Given the description of an element on the screen output the (x, y) to click on. 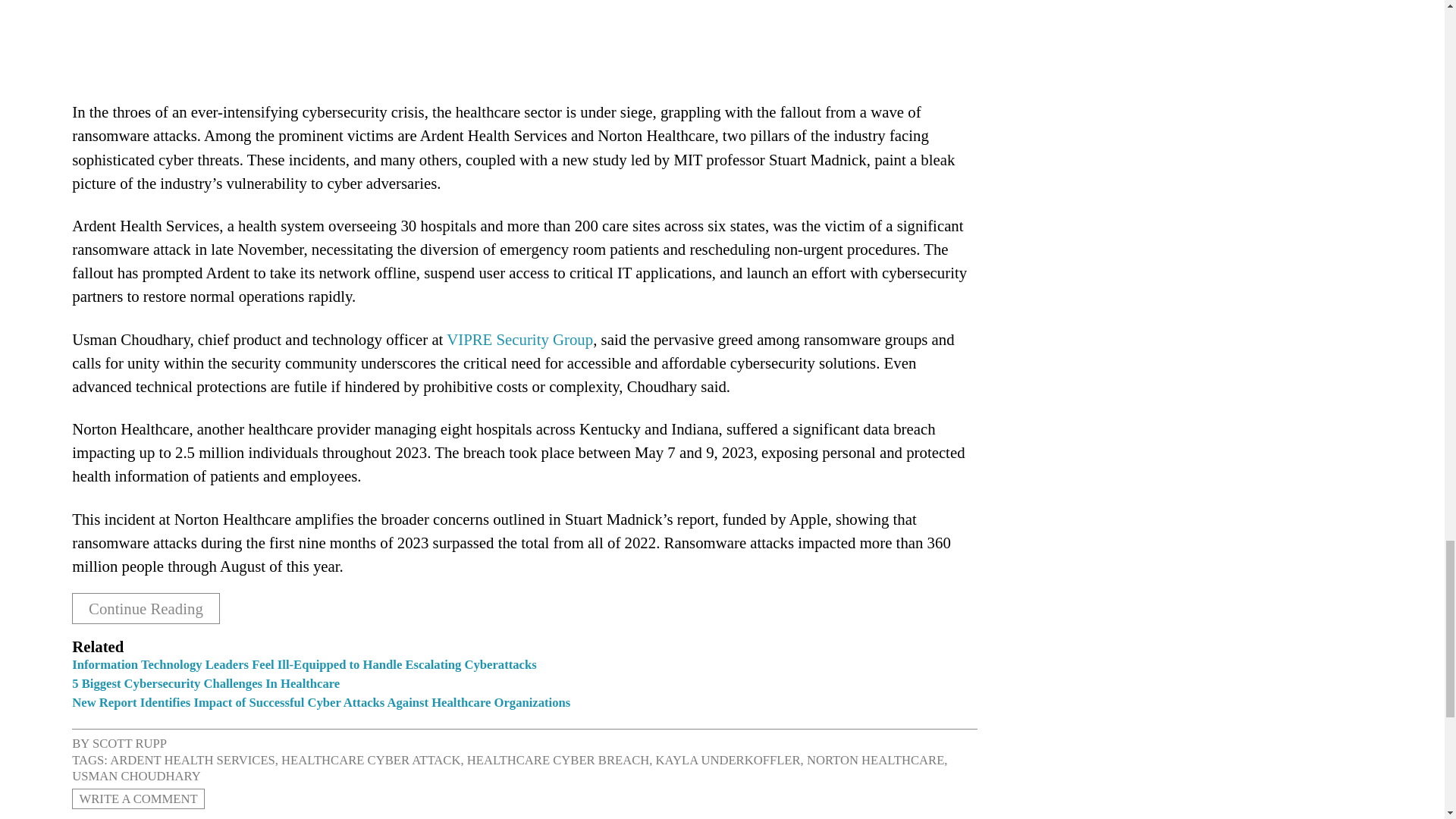
WRITE A COMMENT (138, 798)
VIPRE Security Group (519, 339)
USMAN CHOUDHARY (135, 775)
HEALTHCARE CYBER BREACH (558, 759)
5 Biggest Cybersecurity Challenges In Healthcare (205, 683)
KAYLA UNDERKOFFLER (728, 759)
Continue Reading (145, 608)
NORTON HEALTHCARE (874, 759)
